Given the description of an element on the screen output the (x, y) to click on. 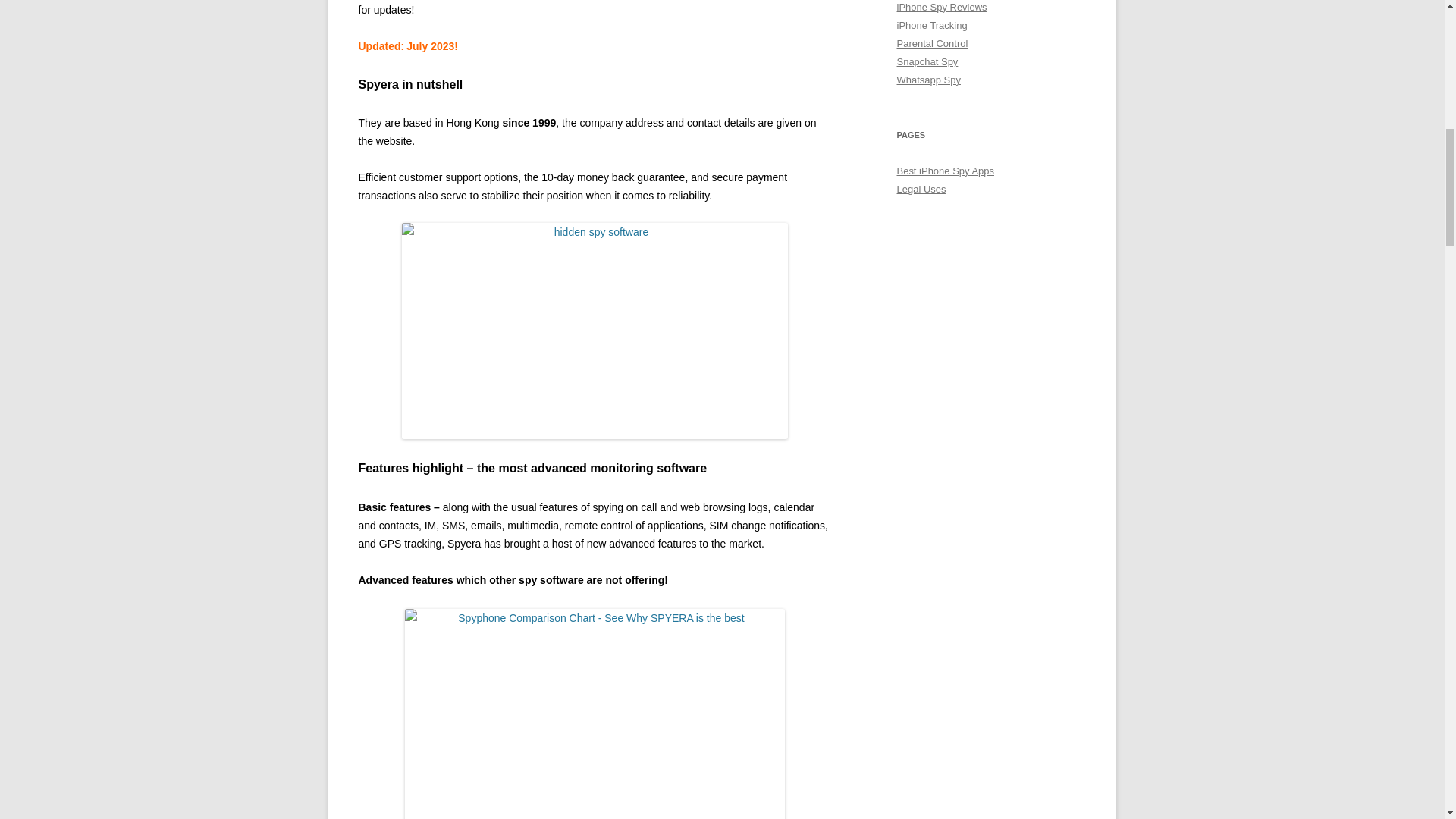
hidden spy software (594, 330)
hidden spy software (594, 330)
